Given the description of an element on the screen output the (x, y) to click on. 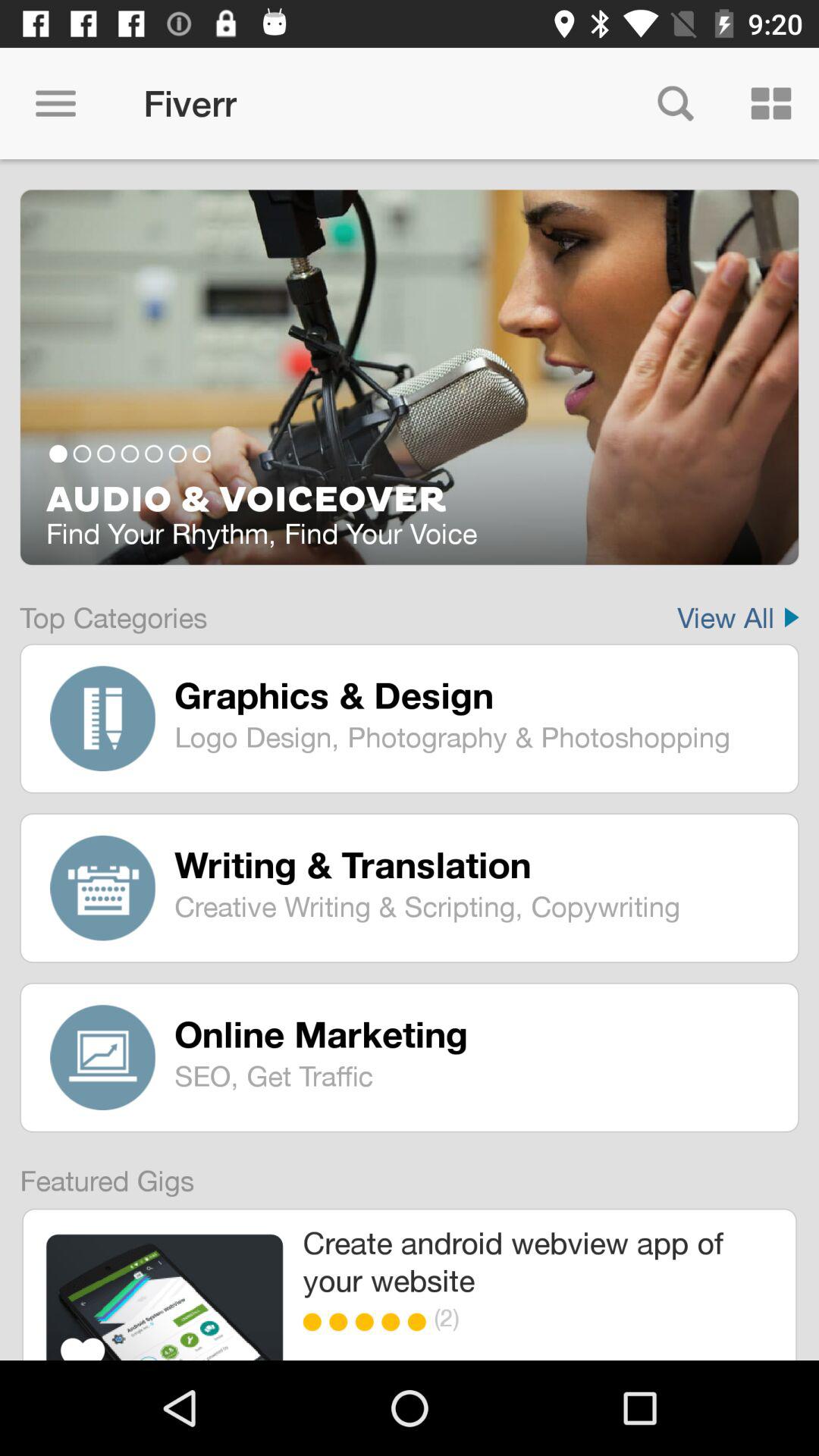
press icon above top categories (409, 377)
